Given the description of an element on the screen output the (x, y) to click on. 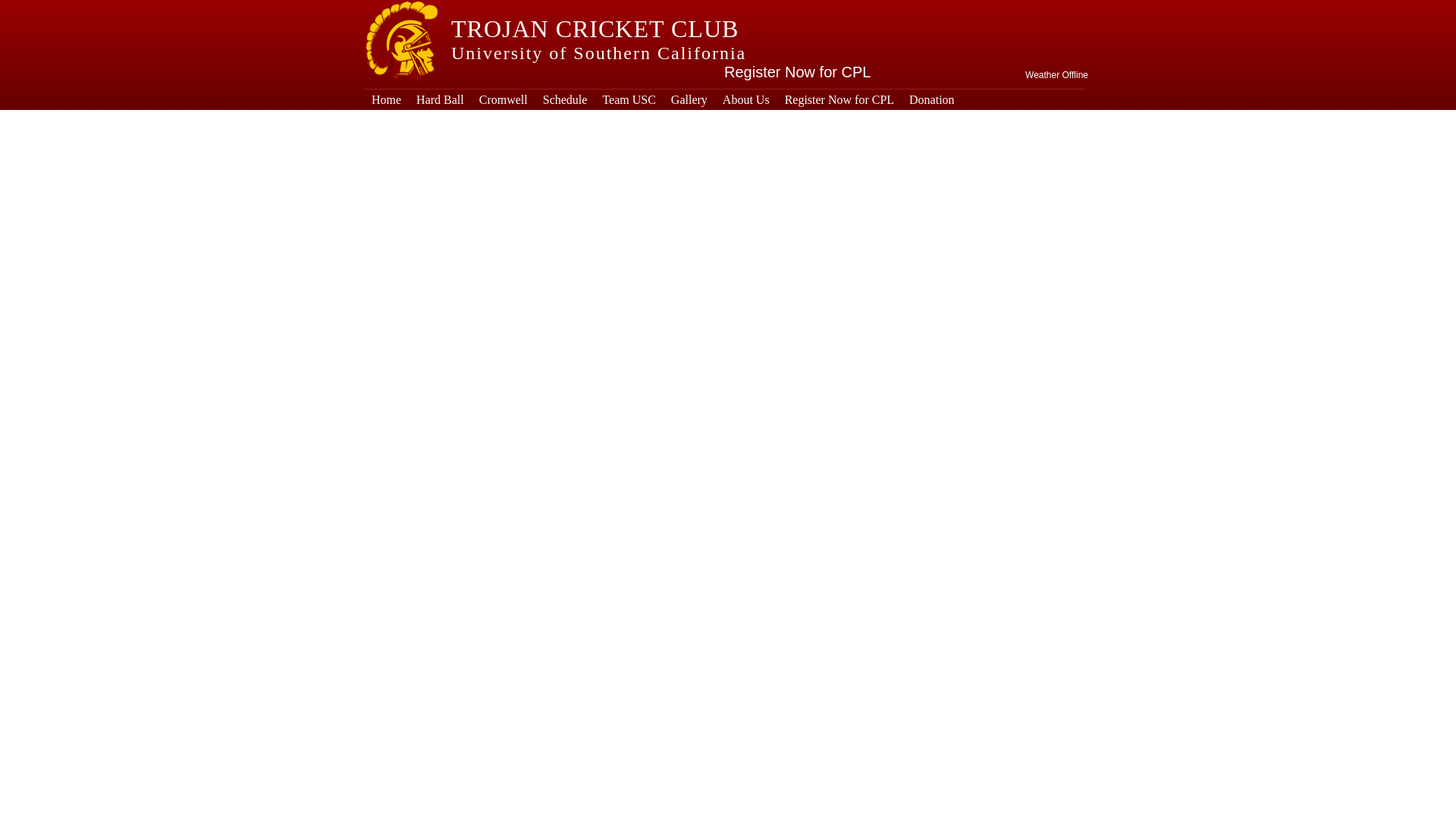
Home (386, 99)
Register Now for CPL (839, 99)
Schedule (565, 99)
YouTube (1007, 10)
Twitter (949, 10)
Contact Us (1037, 10)
Facebook (978, 10)
Register Now for CPL (796, 71)
Gallery (688, 99)
Donation (931, 99)
Hard Ball (440, 99)
Cromwell (503, 99)
Team USC (628, 99)
About Us (745, 99)
